Given the description of an element on the screen output the (x, y) to click on. 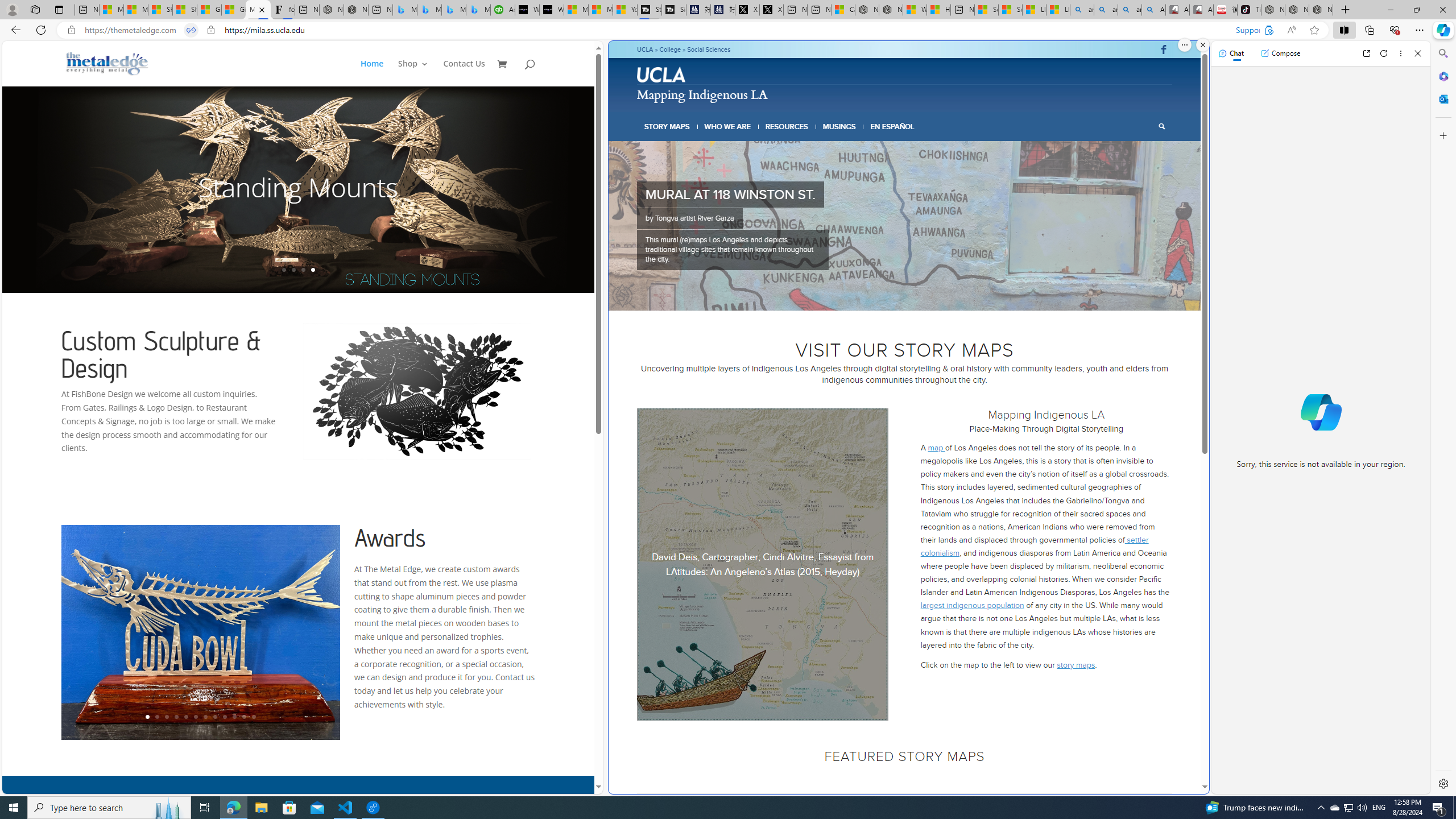
Shop3 (419, 72)
Nordace - Best Sellers (1273, 9)
Link to Facebook (1163, 49)
5 (908, 296)
MUSINGS (839, 126)
amazon - Search (1105, 9)
11 (243, 716)
X (770, 9)
Home (377, 72)
